Given the description of an element on the screen output the (x, y) to click on. 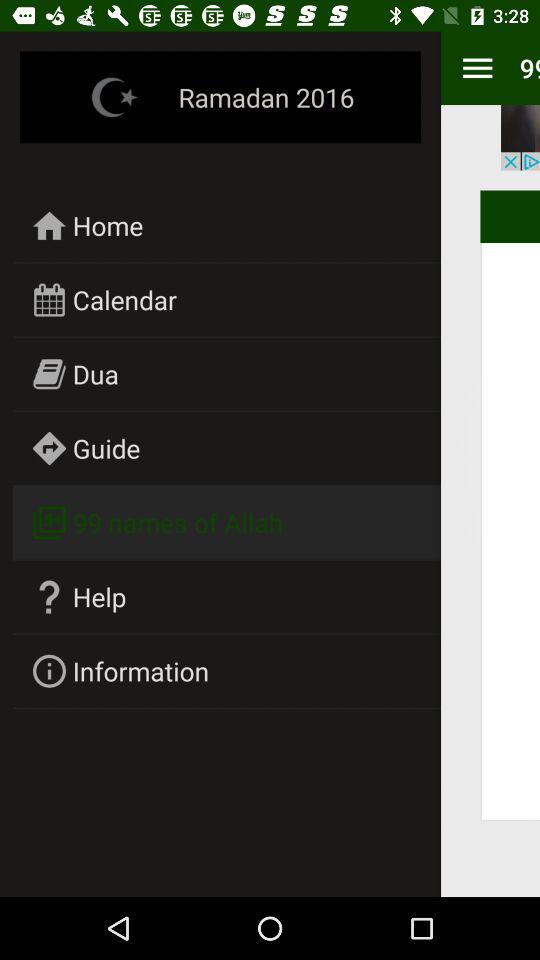
launch the help (99, 596)
